Given the description of an element on the screen output the (x, y) to click on. 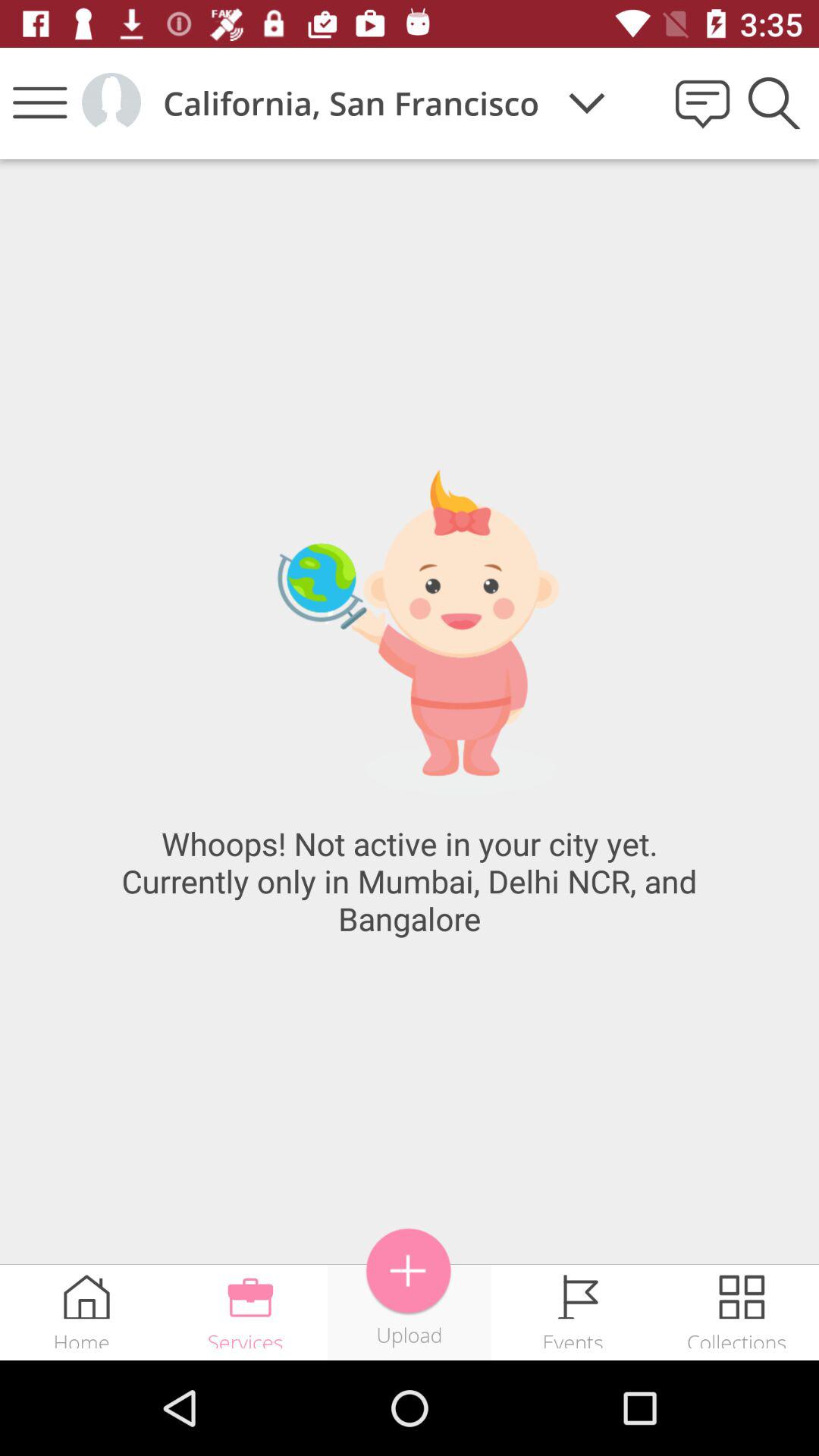
tap the icon above upload icon (408, 1271)
